Given the description of an element on the screen output the (x, y) to click on. 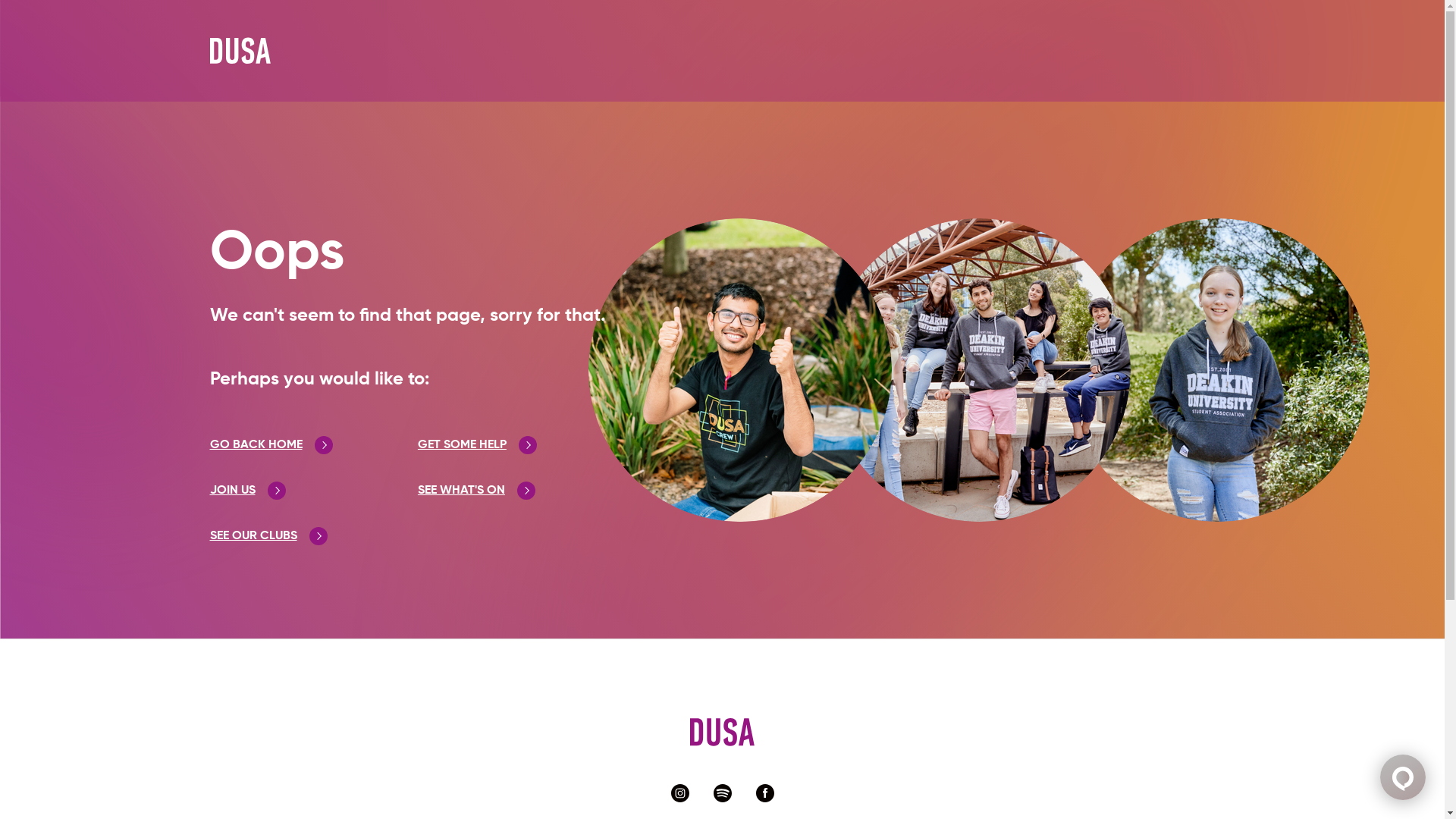
GO BACK HOME Element type: text (270, 445)
GET SOME HELP Element type: text (476, 445)
SEE OUR CLUBS Element type: text (267, 536)
SEE WHAT'S ON Element type: text (476, 490)
JOIN US Element type: text (247, 490)
